Given the description of an element on the screen output the (x, y) to click on. 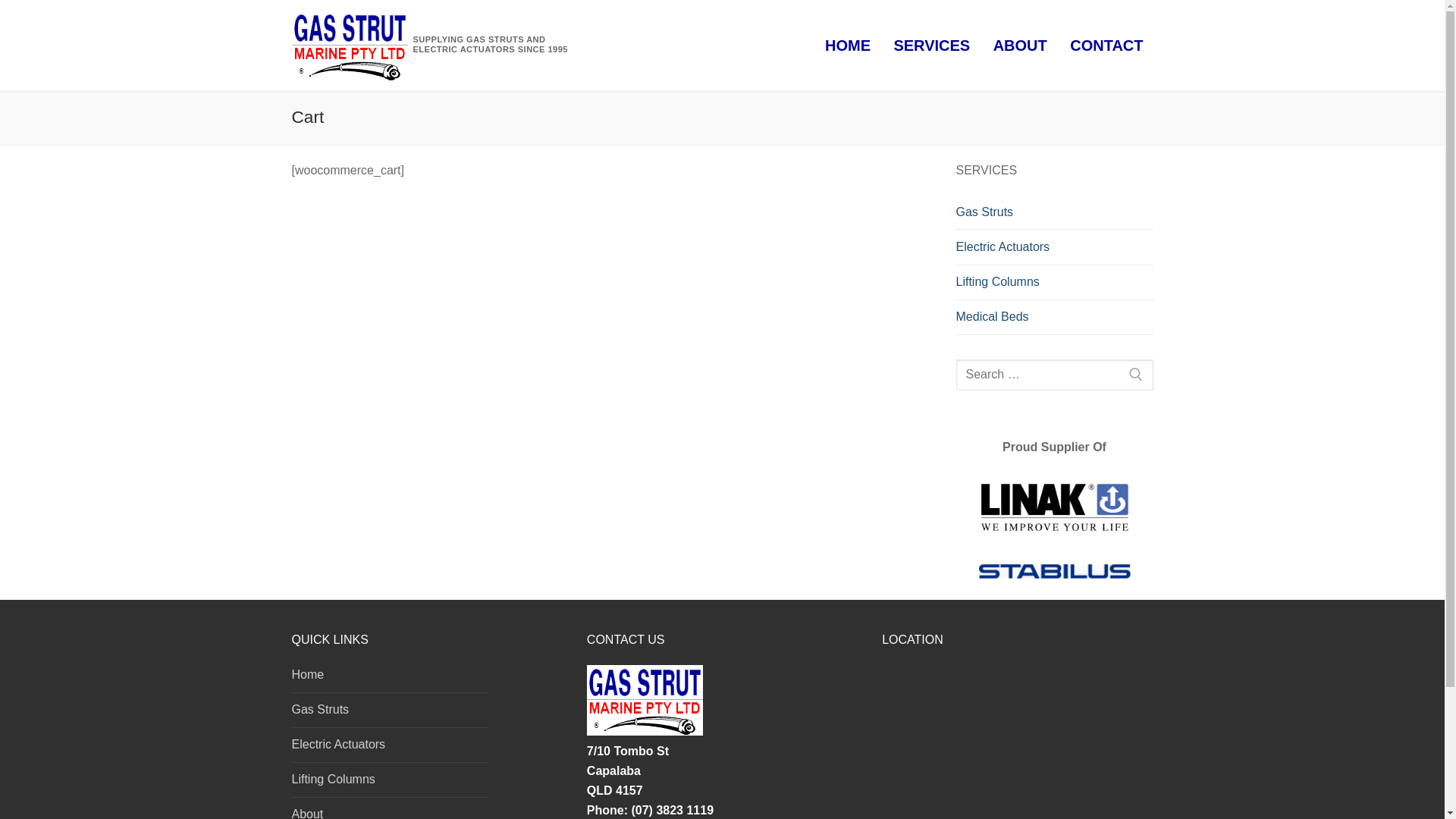
CONTACT Element type: text (1106, 45)
Lifting Columns Element type: text (1053, 282)
Gas Struts Element type: text (1053, 211)
Lifting Columns Element type: text (389, 783)
Gas Struts Element type: text (389, 713)
Medical Beds Element type: text (1053, 317)
Electric Actuators Element type: text (1053, 246)
Search for: Element type: hover (1053, 375)
Stabilus Gas Struts Element type: hover (1053, 571)
SERVICES Element type: text (931, 45)
Home Element type: text (389, 678)
Linak Actuators Element type: hover (1053, 507)
ABOUT Element type: text (1020, 45)
Electric Actuators Element type: text (389, 748)
HOME Element type: text (847, 45)
